Given the description of an element on the screen output the (x, y) to click on. 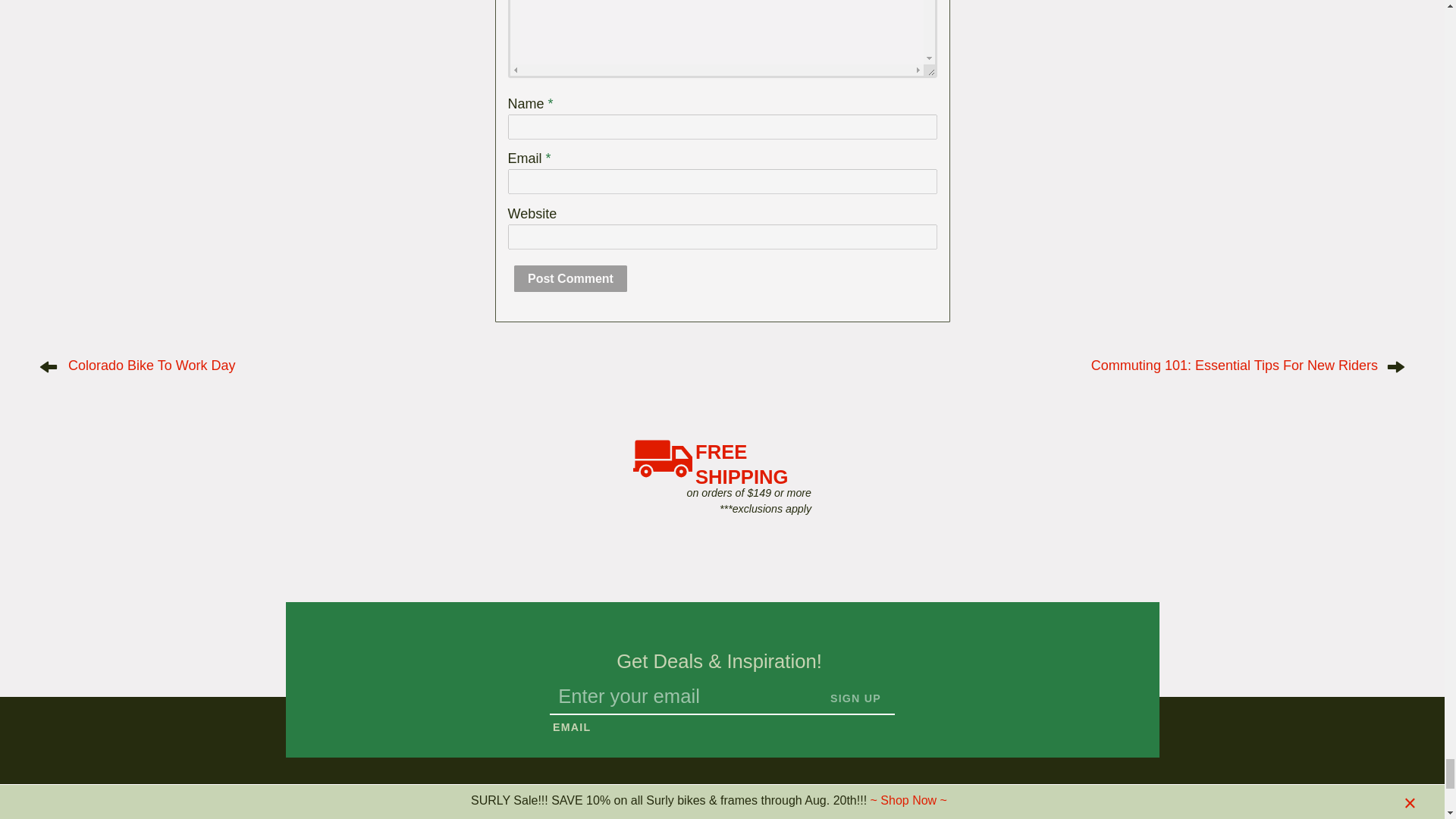
Next (1233, 365)
Previous (151, 365)
Post Comment (570, 278)
